Given the description of an element on the screen output the (x, y) to click on. 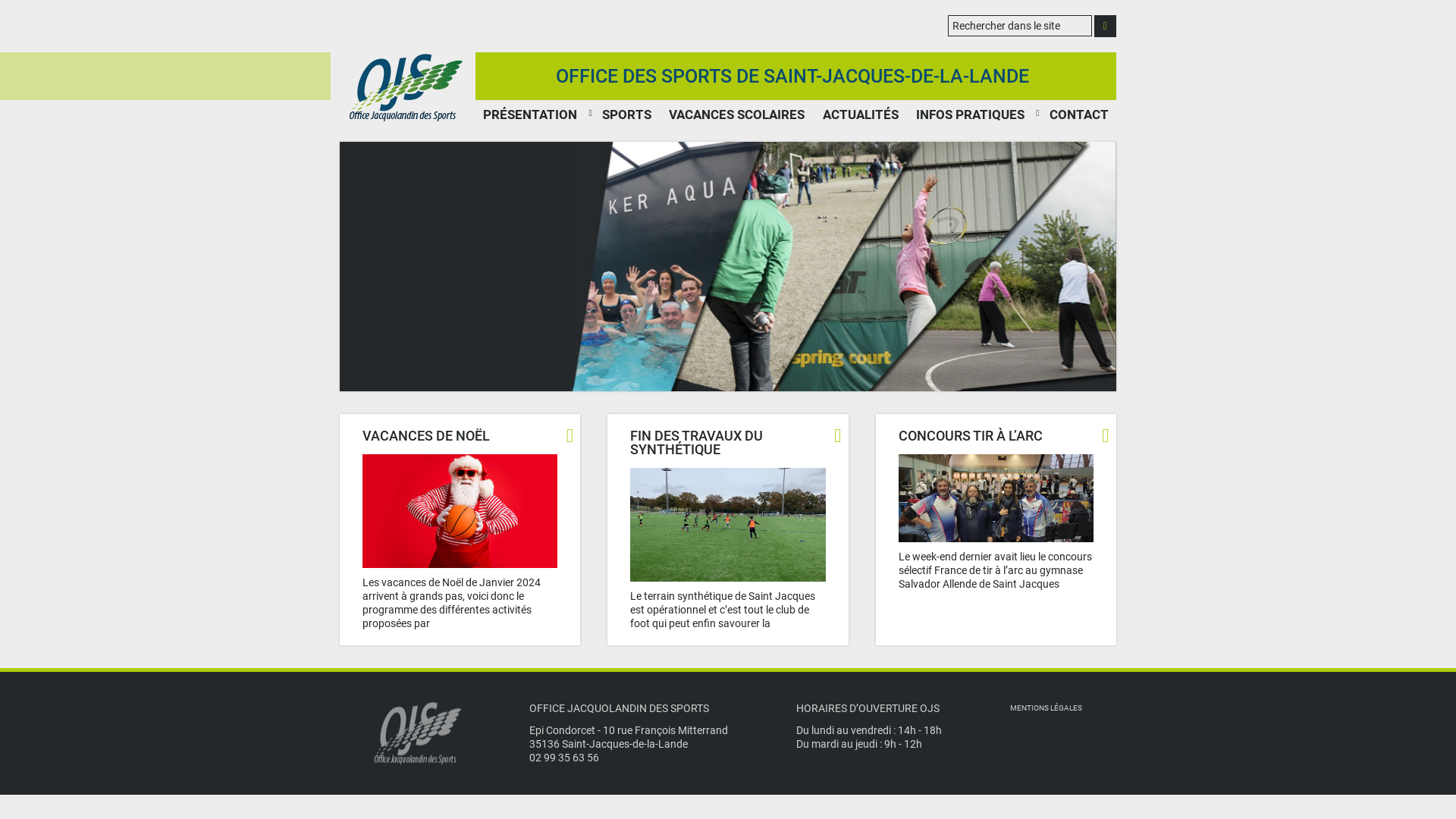
INFOS PRATIQUES Element type: text (970, 114)
SPORTS Element type: text (626, 114)
CONTACT Element type: text (1078, 114)
VACANCES SCOLAIRES Element type: text (736, 114)
